Given the description of an element on the screen output the (x, y) to click on. 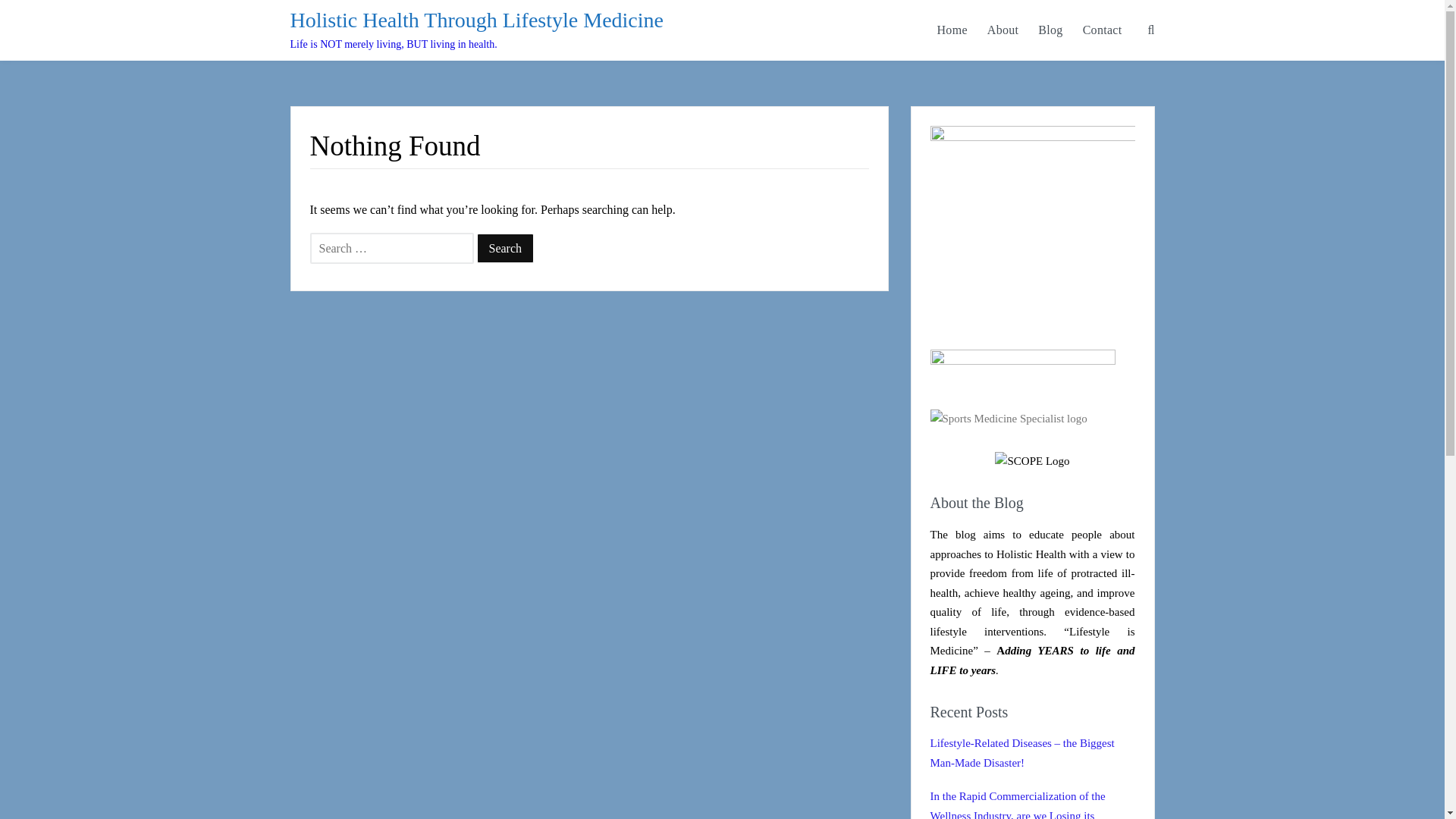
Holistic Health Through Lifestyle Medicine (475, 19)
Search (505, 247)
Contact (1102, 30)
Search (505, 247)
Search (505, 247)
